Given the description of an element on the screen output the (x, y) to click on. 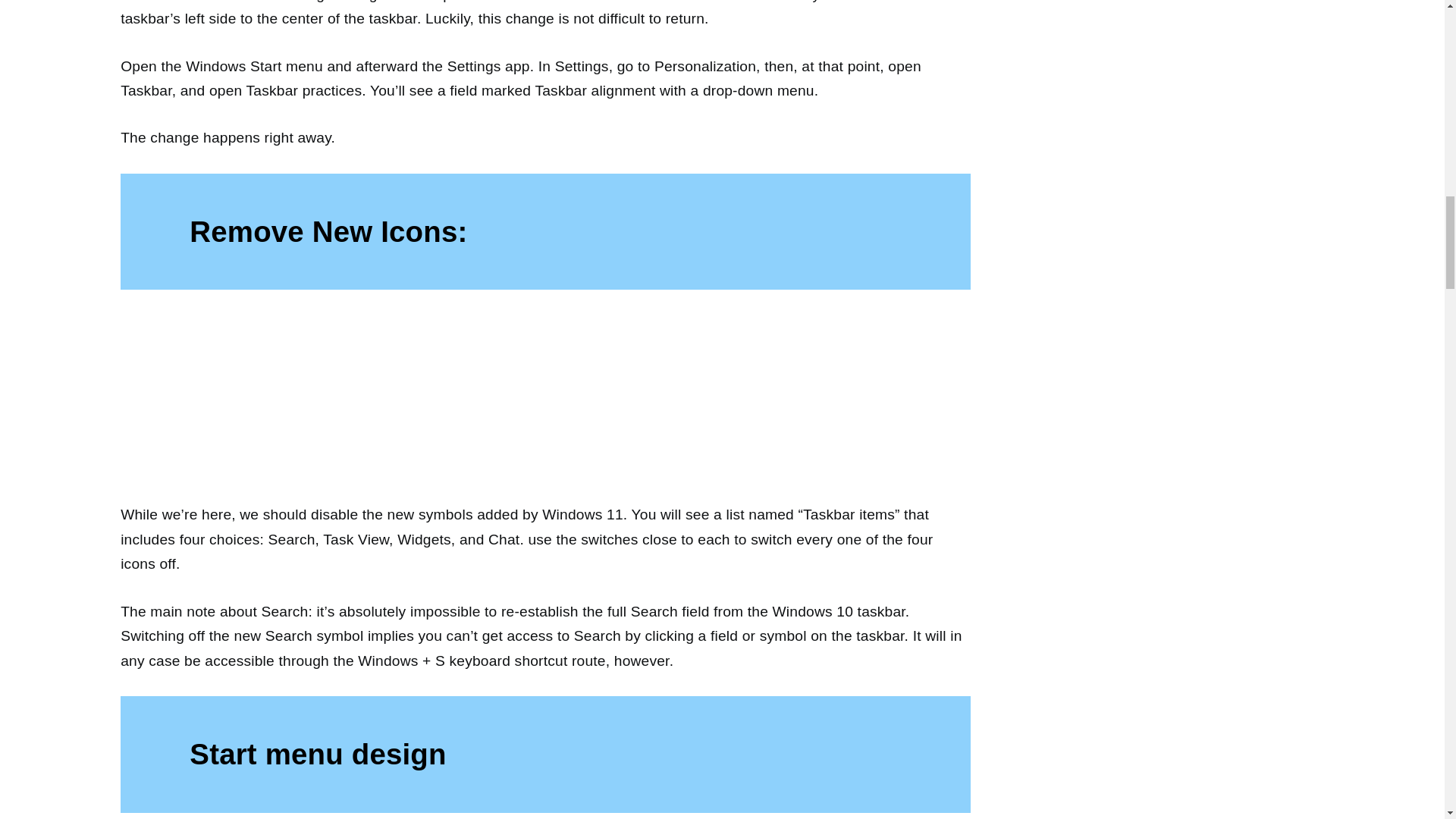
How to make Windows 11 look and feel like Windows 10? 2 (545, 407)
